Given the description of an element on the screen output the (x, y) to click on. 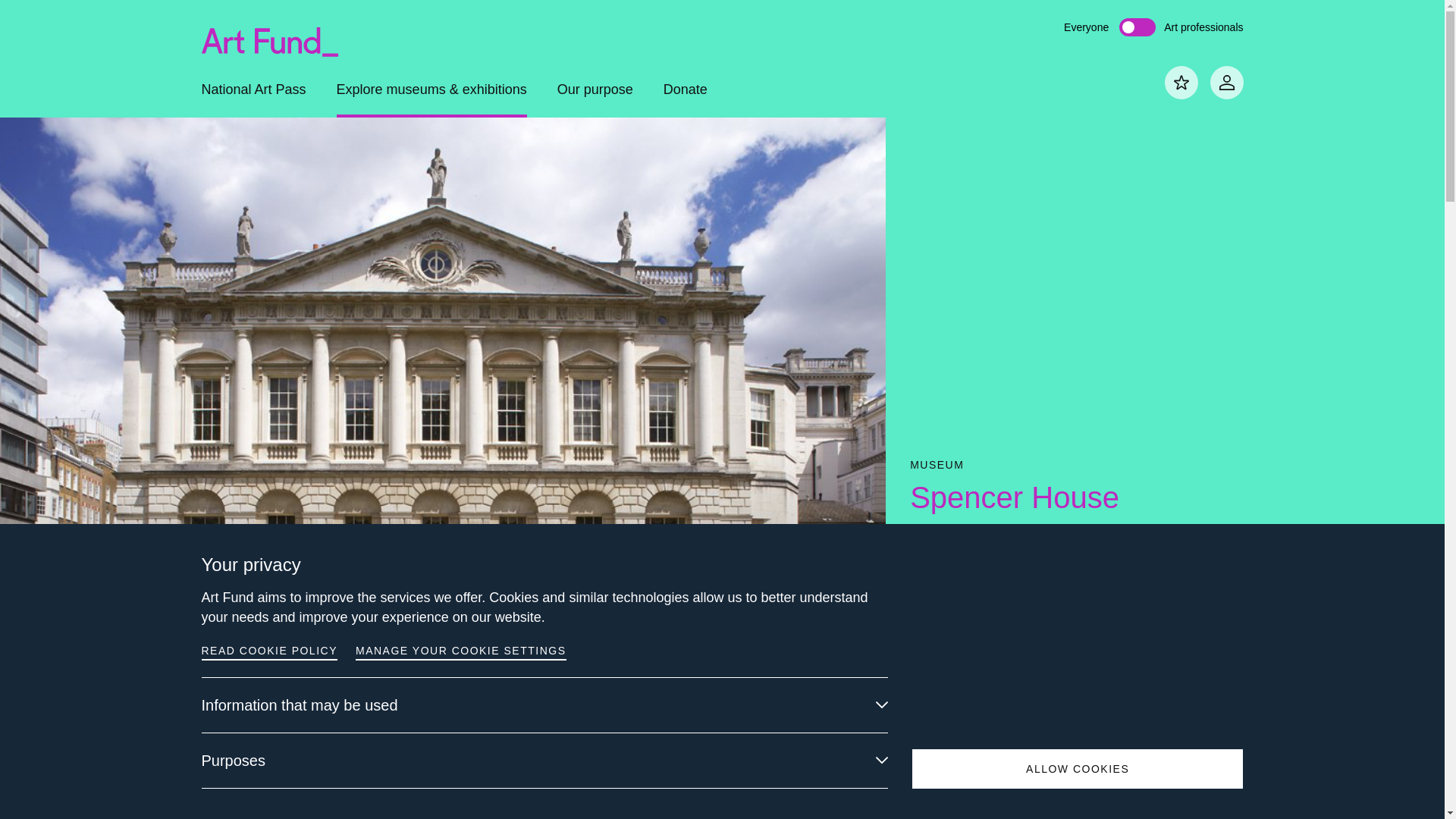
Donate (685, 98)
ADD TO LIST (1073, 729)
Explore (262, 799)
Spencer House (427, 799)
Our purpose (595, 98)
Art Fund Homepage (269, 37)
Home (220, 799)
Museums and galleries (338, 799)
National Art Pass (253, 98)
My lists (1181, 82)
My Account (1226, 82)
